Given the description of an element on the screen output the (x, y) to click on. 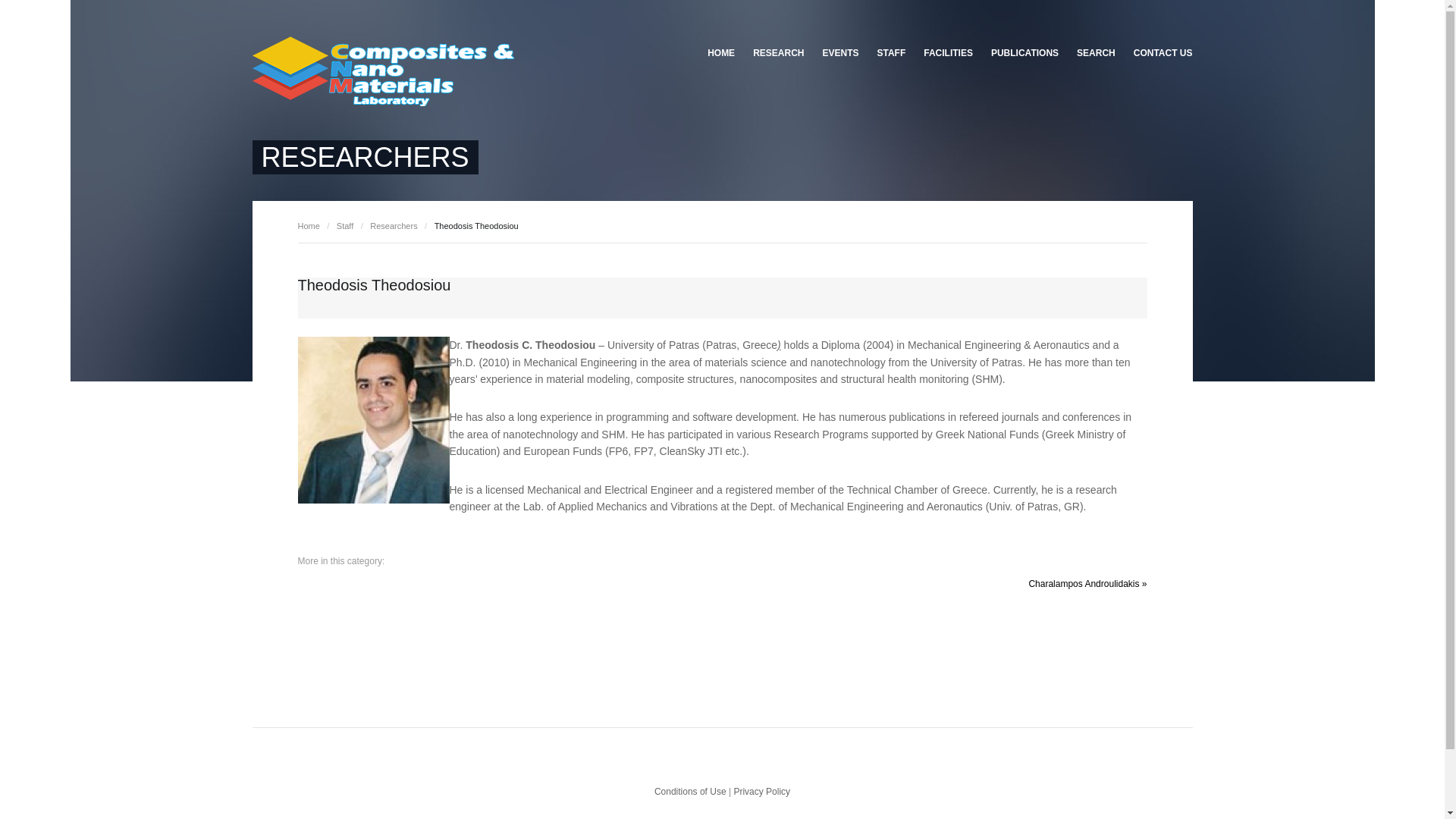
PUBLICATIONS (1024, 53)
FACILITIES (947, 53)
Click to preview image (372, 419)
EVENTS (839, 53)
RESEARCH (778, 53)
SEARCH (1095, 53)
STAFF (890, 53)
CONTACT US (1158, 53)
